Given the description of an element on the screen output the (x, y) to click on. 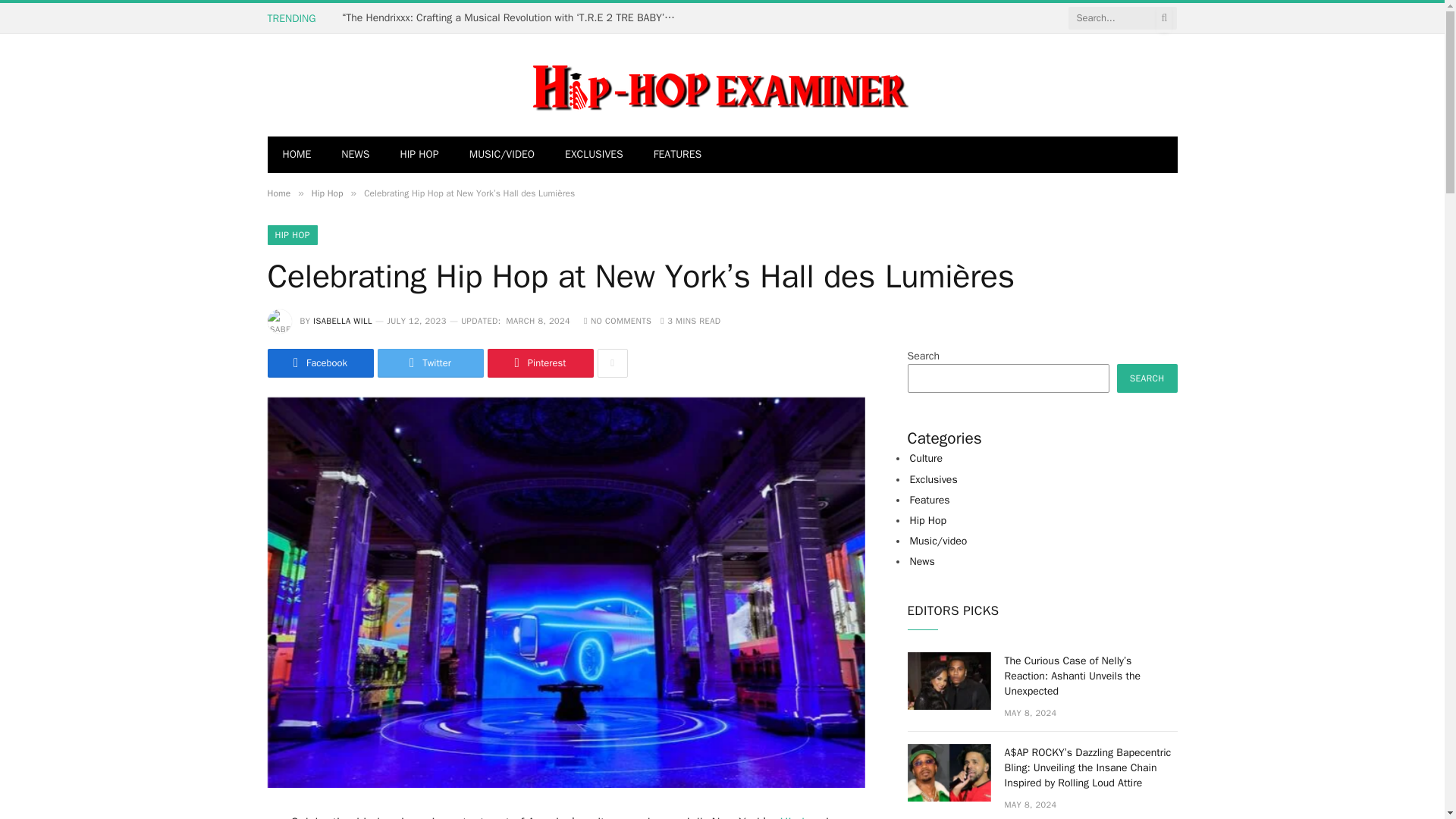
Show More Social Sharing (611, 362)
Pinterest (539, 362)
HipHopExaminer (587, 85)
Share on Pinterest (539, 362)
EXCLUSIVES (594, 154)
Facebook (319, 362)
Twitter (430, 362)
ISABELLA WILL (342, 320)
NEWS (355, 154)
Share on Facebook (319, 362)
FEATURES (678, 154)
HOME (296, 154)
NO COMMENTS (616, 320)
HIP HOP (291, 234)
Hip Hop (327, 193)
